Given the description of an element on the screen output the (x, y) to click on. 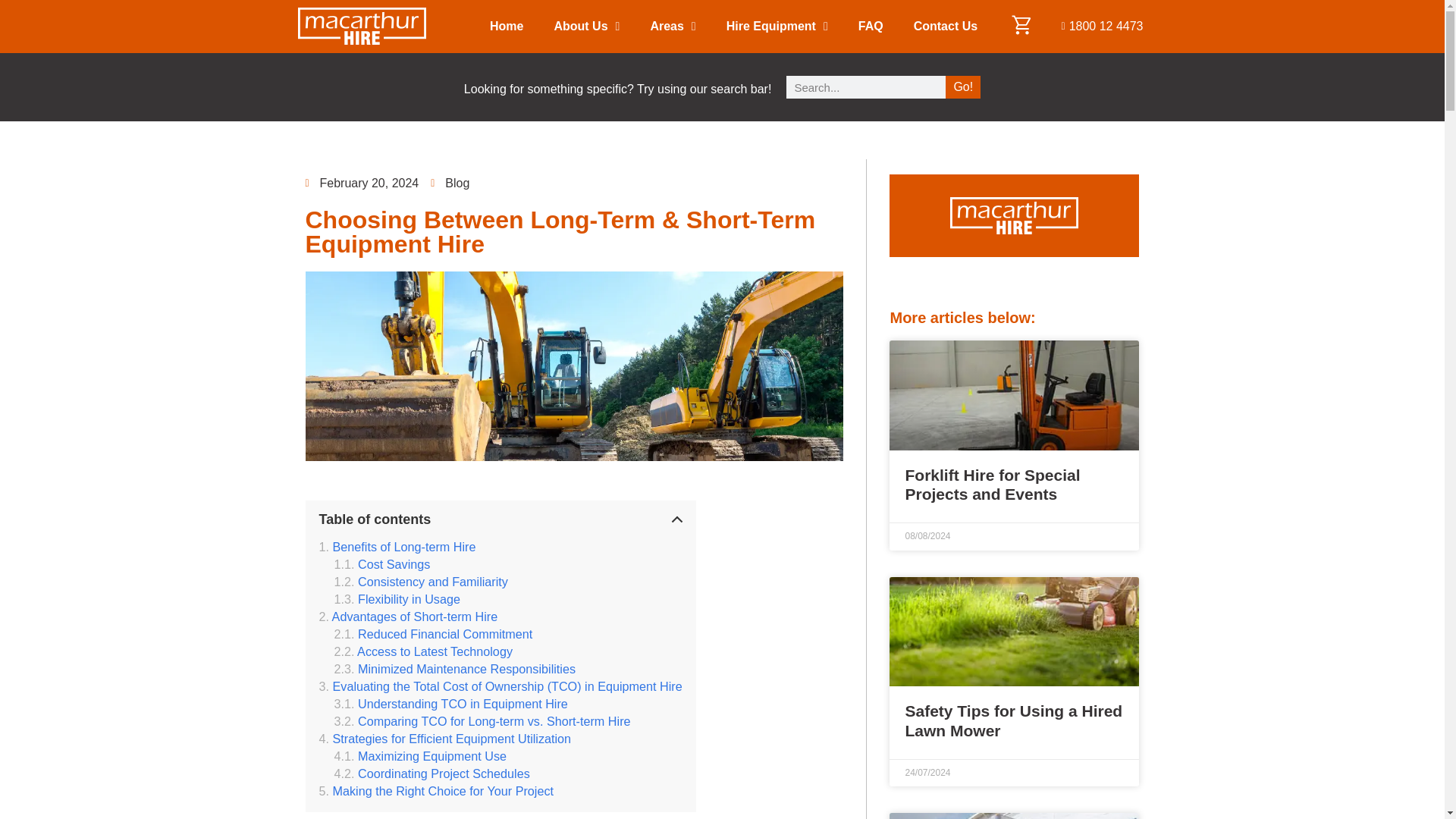
Understanding TCO in Equipment Hire (450, 703)
Coordinating Project Schedules (431, 773)
Access to Latest Technology (422, 651)
Comparing TCO for Long-term vs. Short-term Hire (481, 721)
Contact Us (945, 26)
Advantages of Short-term Hire (407, 616)
FAQ (870, 26)
Go! (961, 87)
Reduced Financial Commitment (432, 634)
Consistency and Familiarity (419, 581)
